Given the description of an element on the screen output the (x, y) to click on. 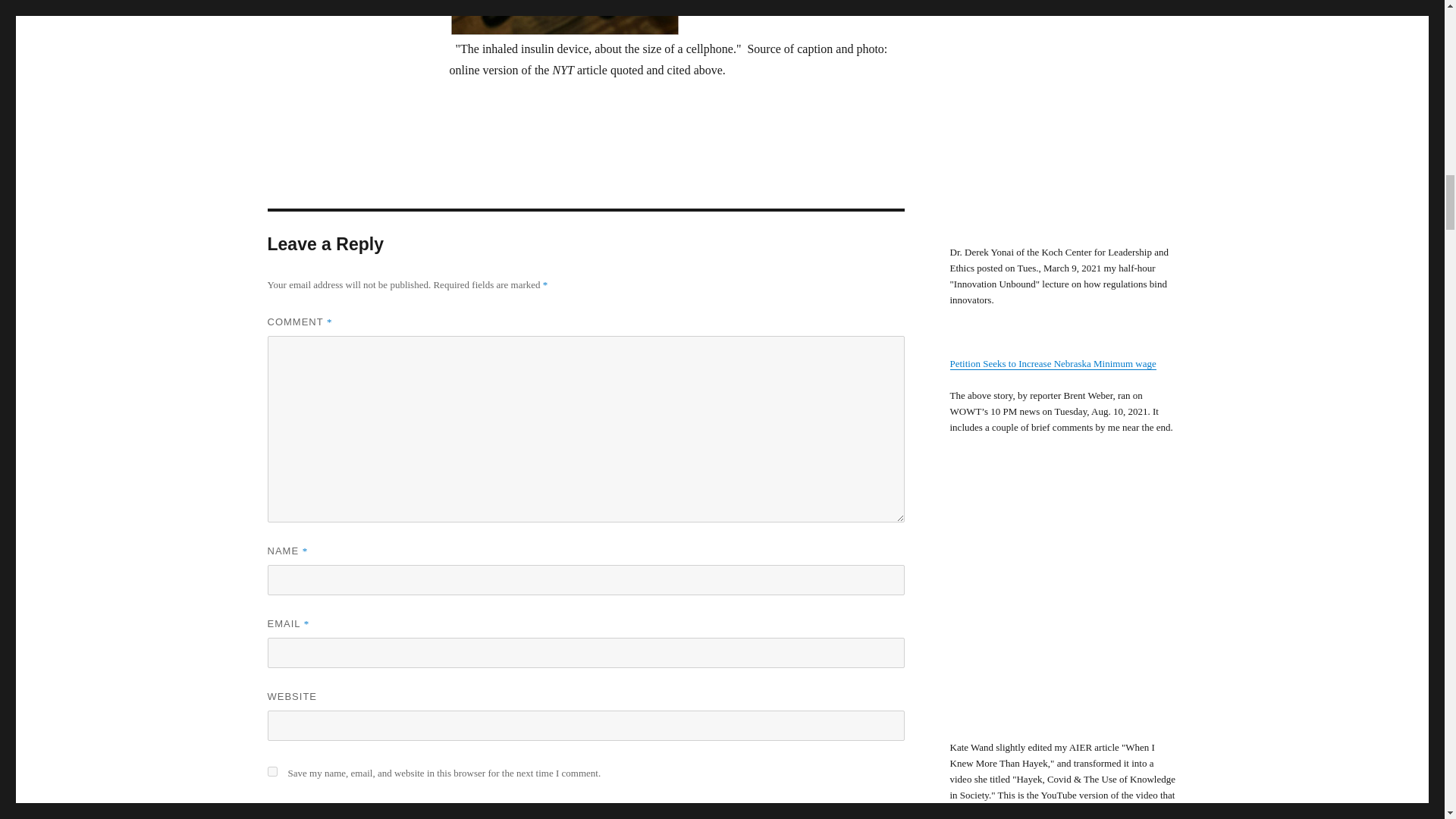
Post Comment (330, 811)
yes (271, 771)
Post Comment (330, 811)
Petition Seeks to Increase Nebraska Minimum wage (1052, 363)
